Given the description of an element on the screen output the (x, y) to click on. 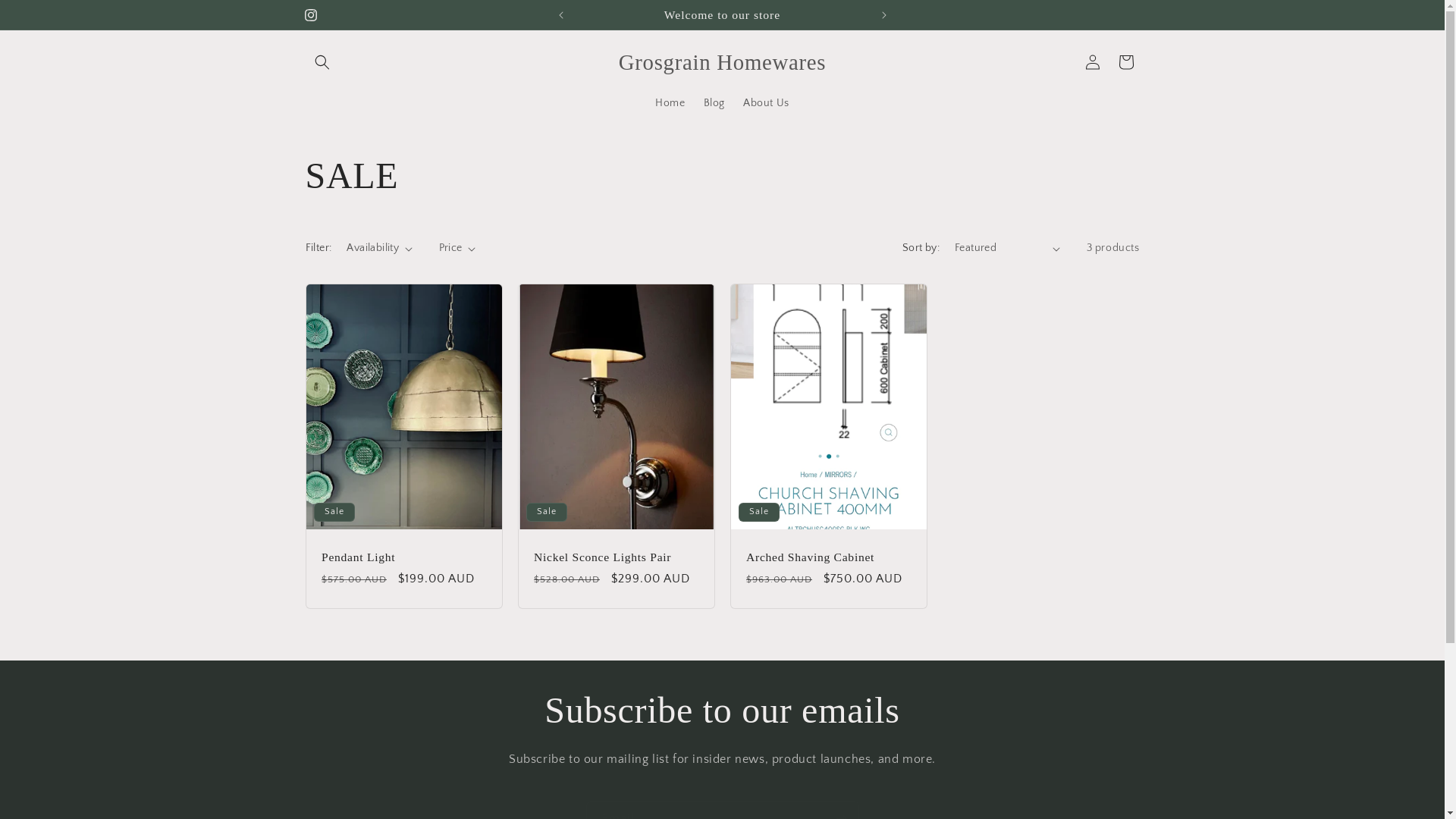
Arched Shaving Cabinet Element type: text (828, 556)
Cart Element type: text (1125, 61)
Instagram Element type: text (309, 14)
Home Element type: text (669, 103)
Nickel Sconce Lights Pair Element type: text (616, 556)
Pendant Light Element type: text (403, 556)
About Us Element type: text (766, 103)
Log in Element type: text (1091, 61)
Grosgrain Homewares Element type: text (721, 62)
Blog Element type: text (714, 103)
